Given the description of an element on the screen output the (x, y) to click on. 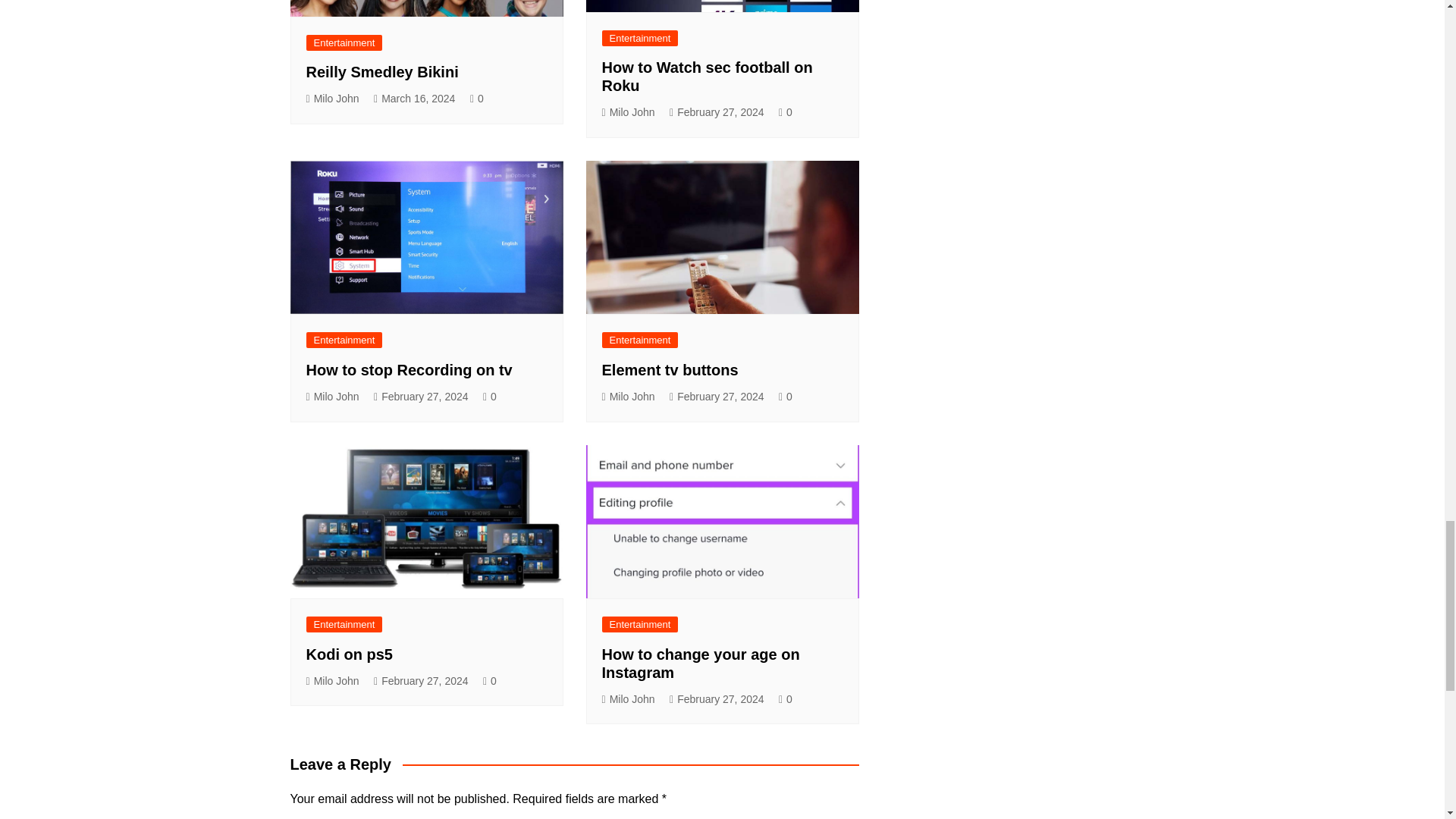
Entertainment (343, 340)
Entertainment (343, 42)
February 27, 2024 (716, 112)
March 16, 2024 (414, 98)
Milo John (332, 98)
Milo John (628, 112)
Entertainment (640, 37)
Reilly Smedley Bikini (381, 71)
How to Watch sec football on Roku (707, 76)
